Given the description of an element on the screen output the (x, y) to click on. 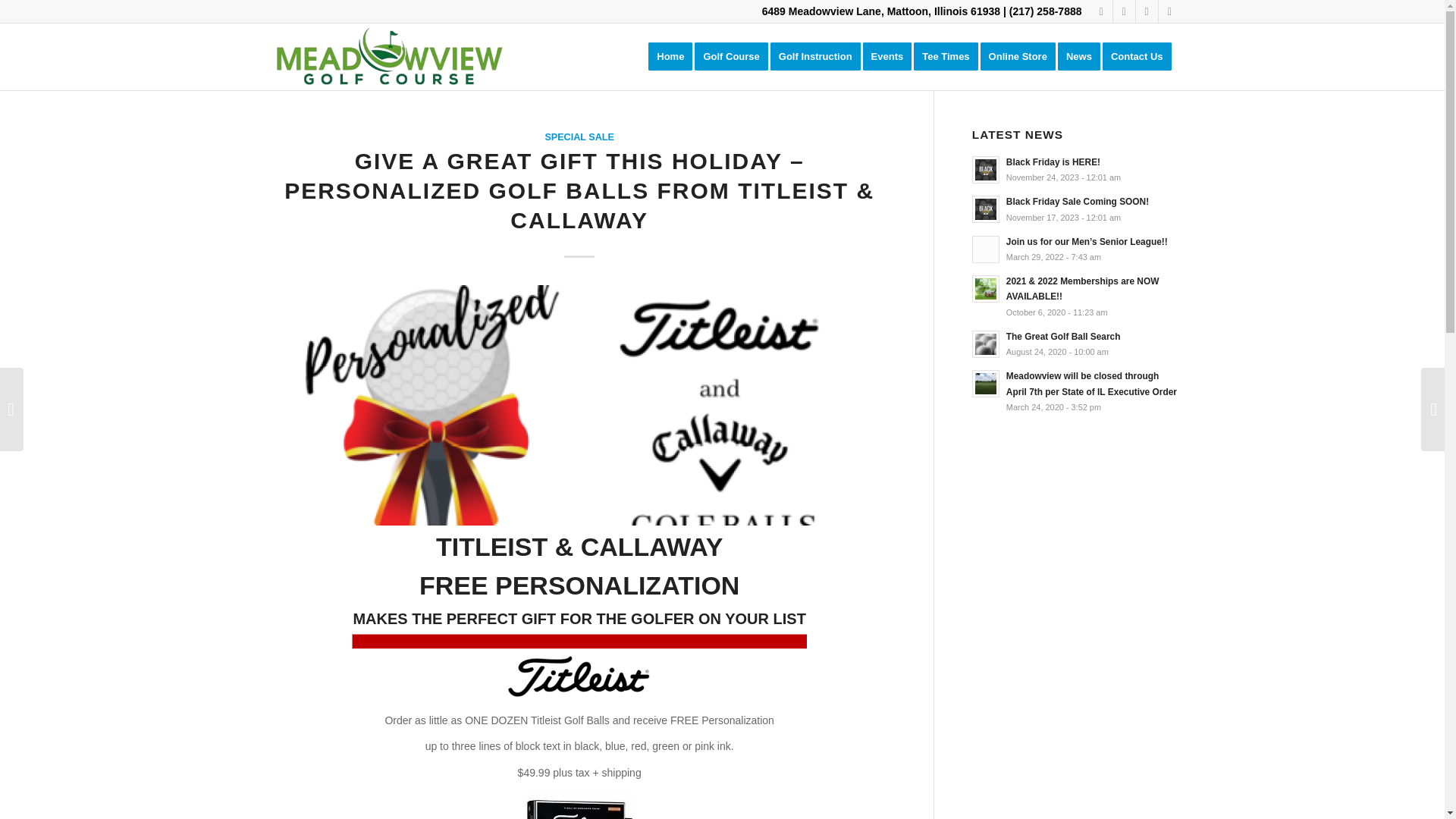
Rss (1146, 11)
Golf Course (735, 56)
Tee Times (950, 56)
Mail (1169, 11)
Online Store (1022, 56)
Twitter (1124, 11)
MeadowView Logo (387, 56)
Golf Instruction (820, 56)
Home (670, 56)
Facebook (1101, 11)
SPECIAL SALE (578, 136)
Contact Us (1141, 56)
